Given the description of an element on the screen output the (x, y) to click on. 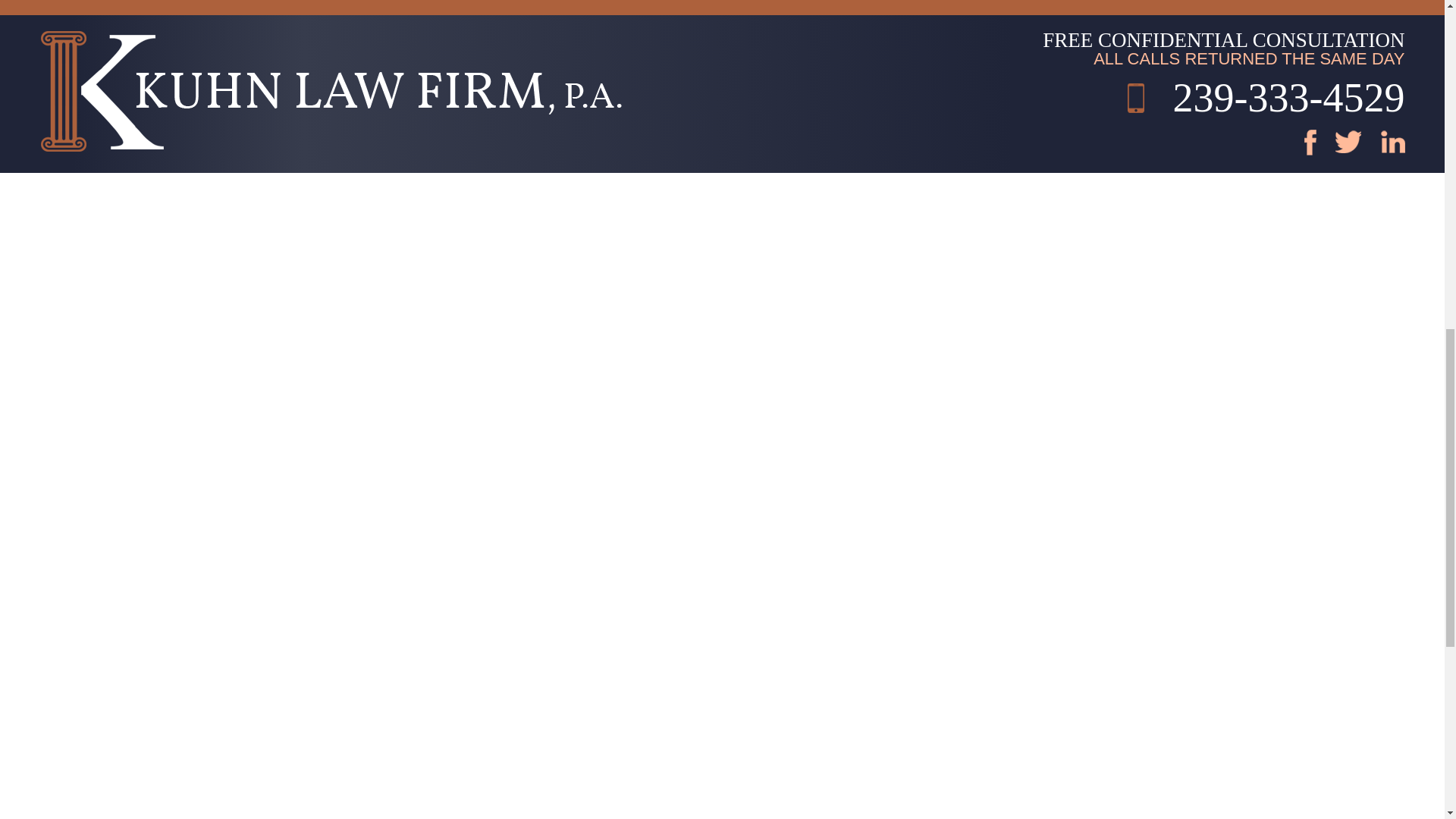
Facebook (187, 140)
LinkedIn (208, 140)
Twitter (197, 140)
